Given the description of an element on the screen output the (x, y) to click on. 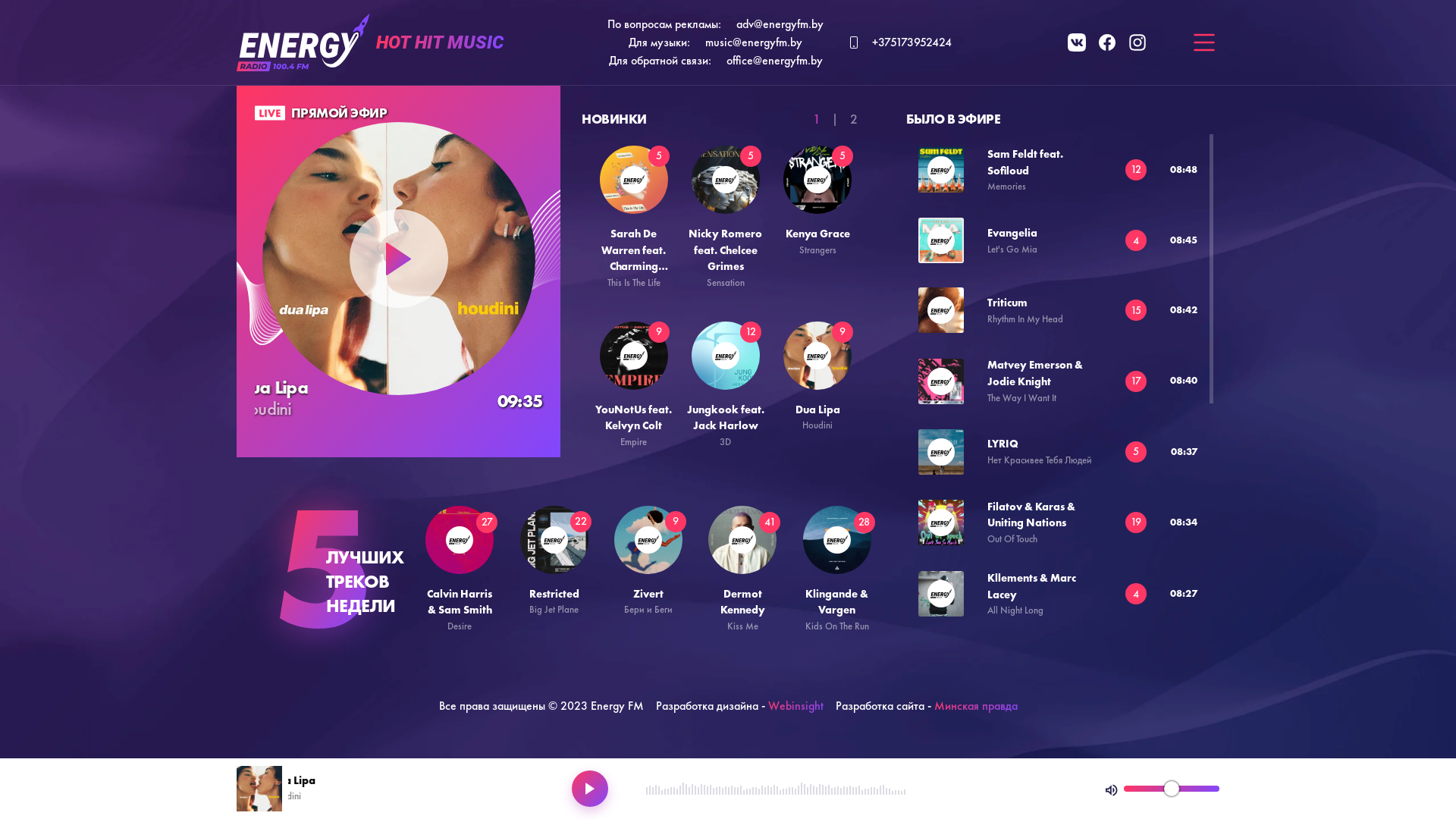
5 Element type: text (658, 155)
41 Element type: text (769, 522)
9 Element type: text (658, 331)
9 Element type: text (842, 331)
5 Element type: text (842, 155)
15 Element type: text (1135, 309)
27 Element type: text (486, 522)
28 Element type: text (864, 522)
15 Element type: text (1135, 665)
+375173952424 Element type: text (899, 42)
12 Element type: text (1135, 169)
adv@energyfm.by Element type: text (779, 23)
22 Element type: text (580, 521)
5 Element type: text (750, 155)
4 Element type: text (1135, 240)
19 Element type: text (1135, 522)
5 Element type: text (1135, 451)
4 Element type: text (1135, 593)
office@energyfm.by Element type: text (774, 60)
music@energyfm.by Element type: text (753, 42)
Webinsight Element type: text (794, 705)
1 Element type: text (815, 118)
21 Element type: text (1135, 735)
22 Element type: text (1135, 805)
17 Element type: text (1135, 381)
2 Element type: text (853, 118)
9 Element type: text (675, 521)
12 Element type: text (750, 331)
